Given the description of an element on the screen output the (x, y) to click on. 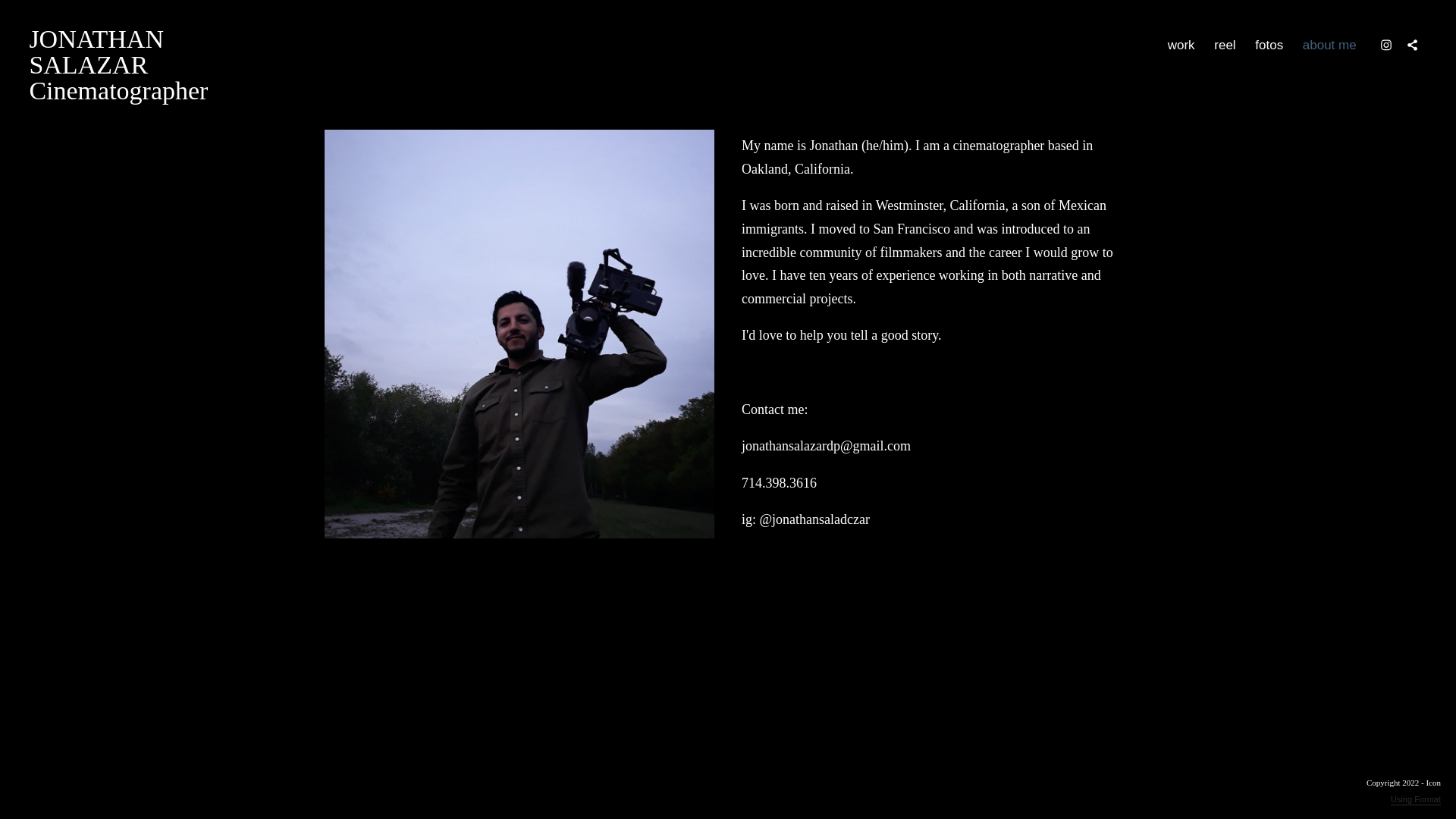
about me (1329, 44)
work (118, 64)
reel (1180, 44)
fotos (1225, 44)
